Given the description of an element on the screen output the (x, y) to click on. 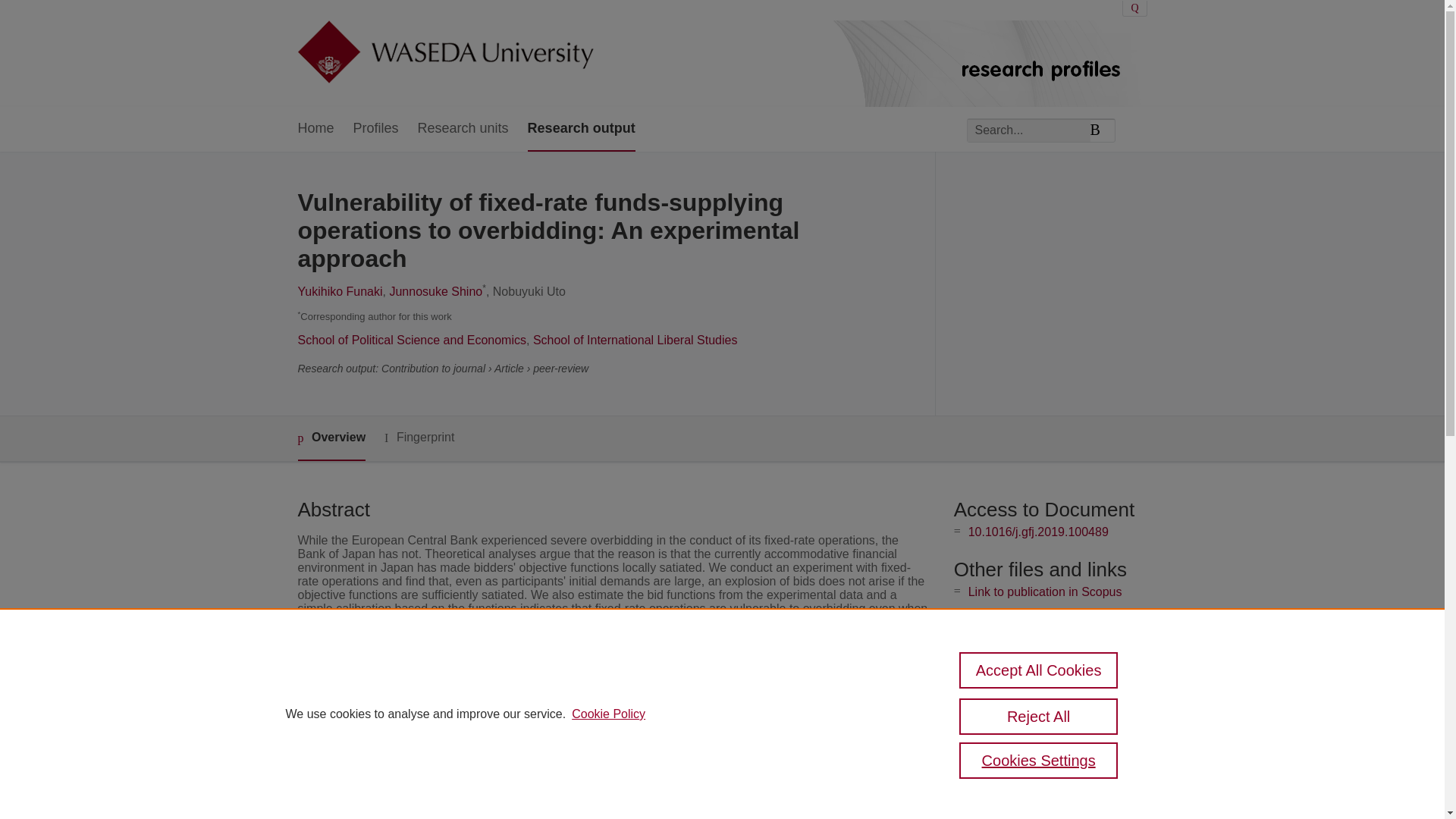
Global Finance Journal (571, 695)
Link to the citations in Scopus (1048, 616)
Profiles (375, 129)
Fingerprint (419, 437)
Overview (331, 438)
Yukihiko Funaki (339, 291)
Research output (580, 129)
Link to publication in Scopus (1045, 591)
Research units (462, 129)
School of International Liberal Studies (635, 339)
